Given the description of an element on the screen output the (x, y) to click on. 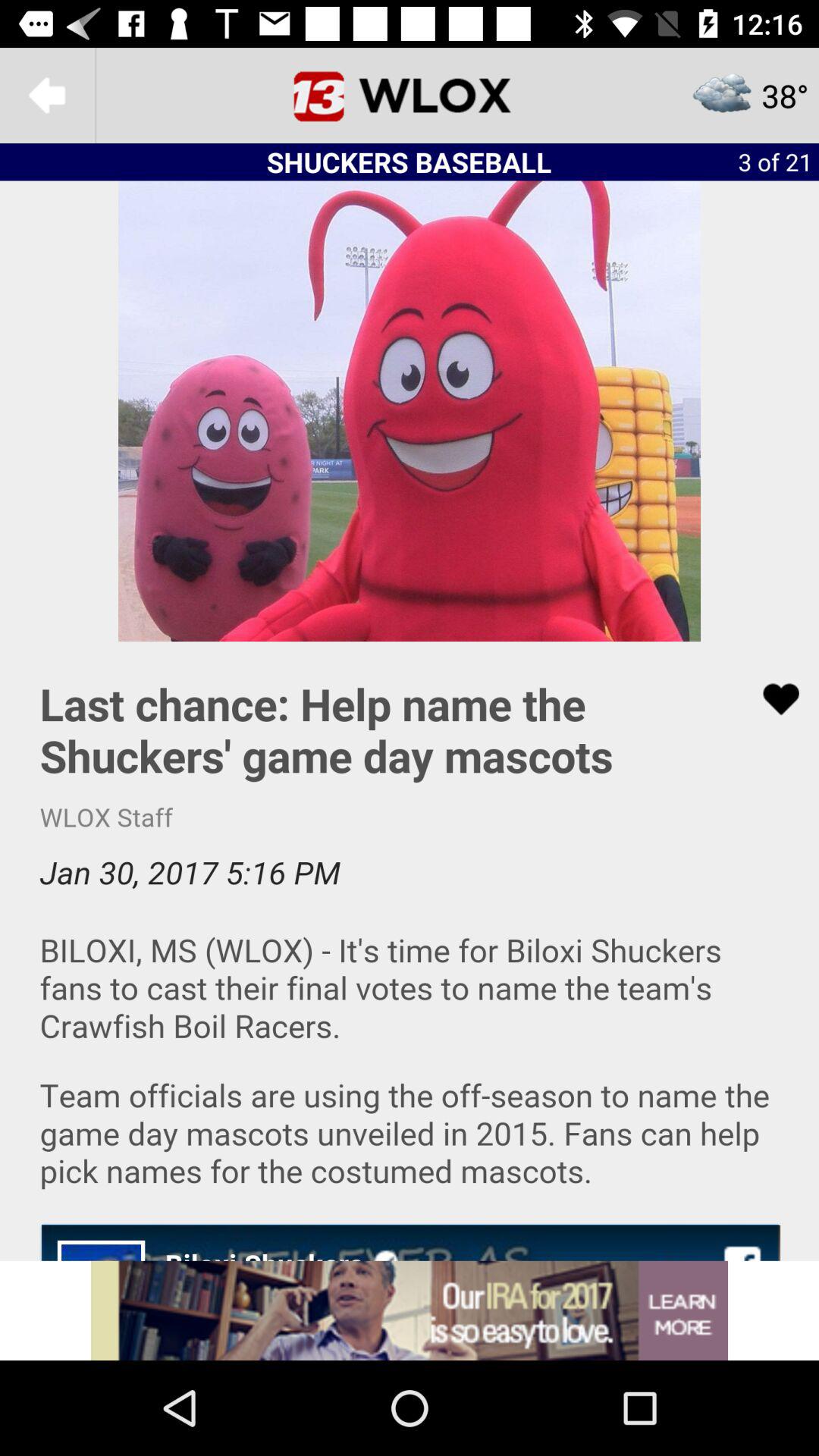
click to like (771, 699)
